Given the description of an element on the screen output the (x, y) to click on. 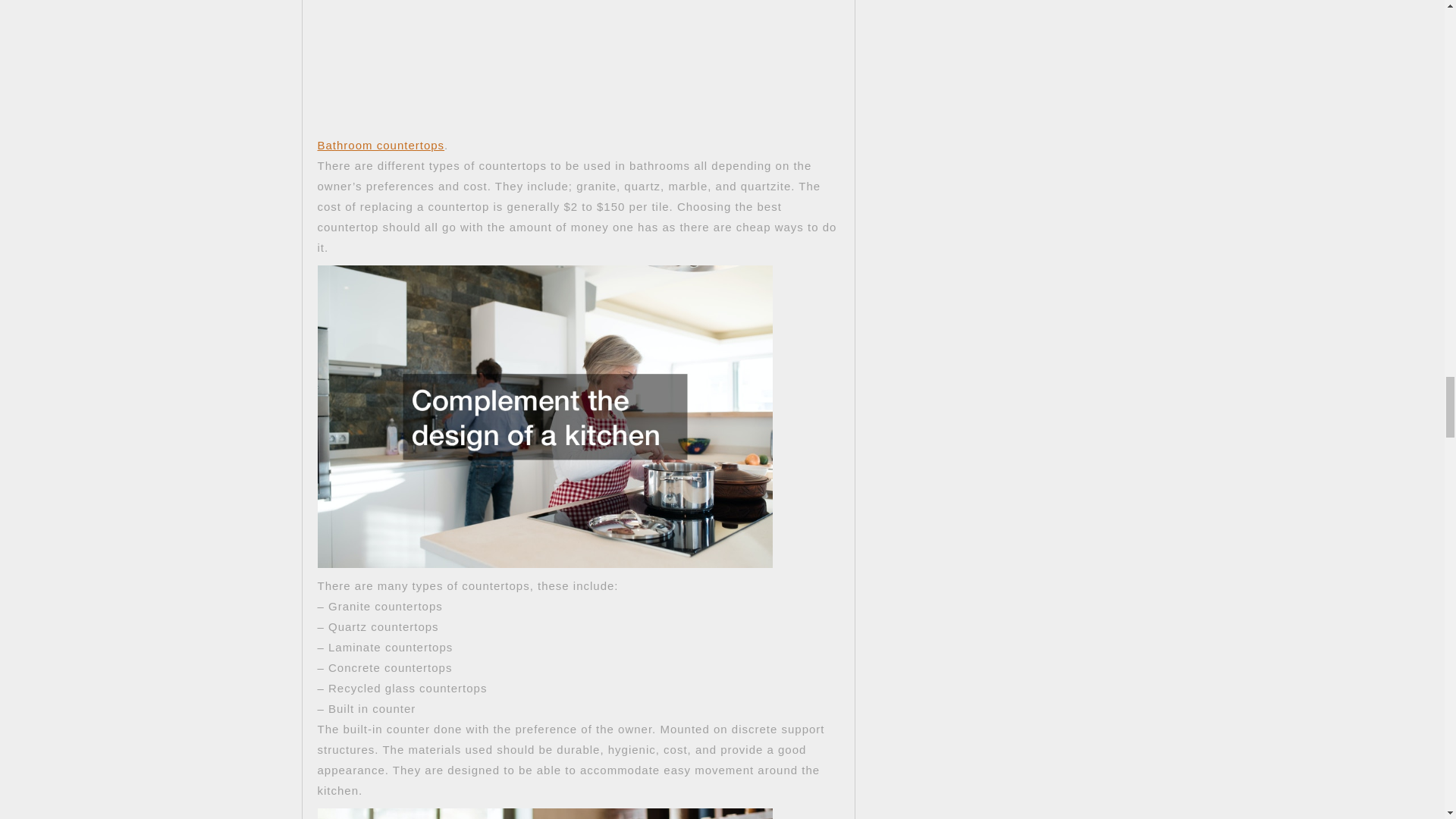
Bathroom countertops (380, 144)
